Given the description of an element on the screen output the (x, y) to click on. 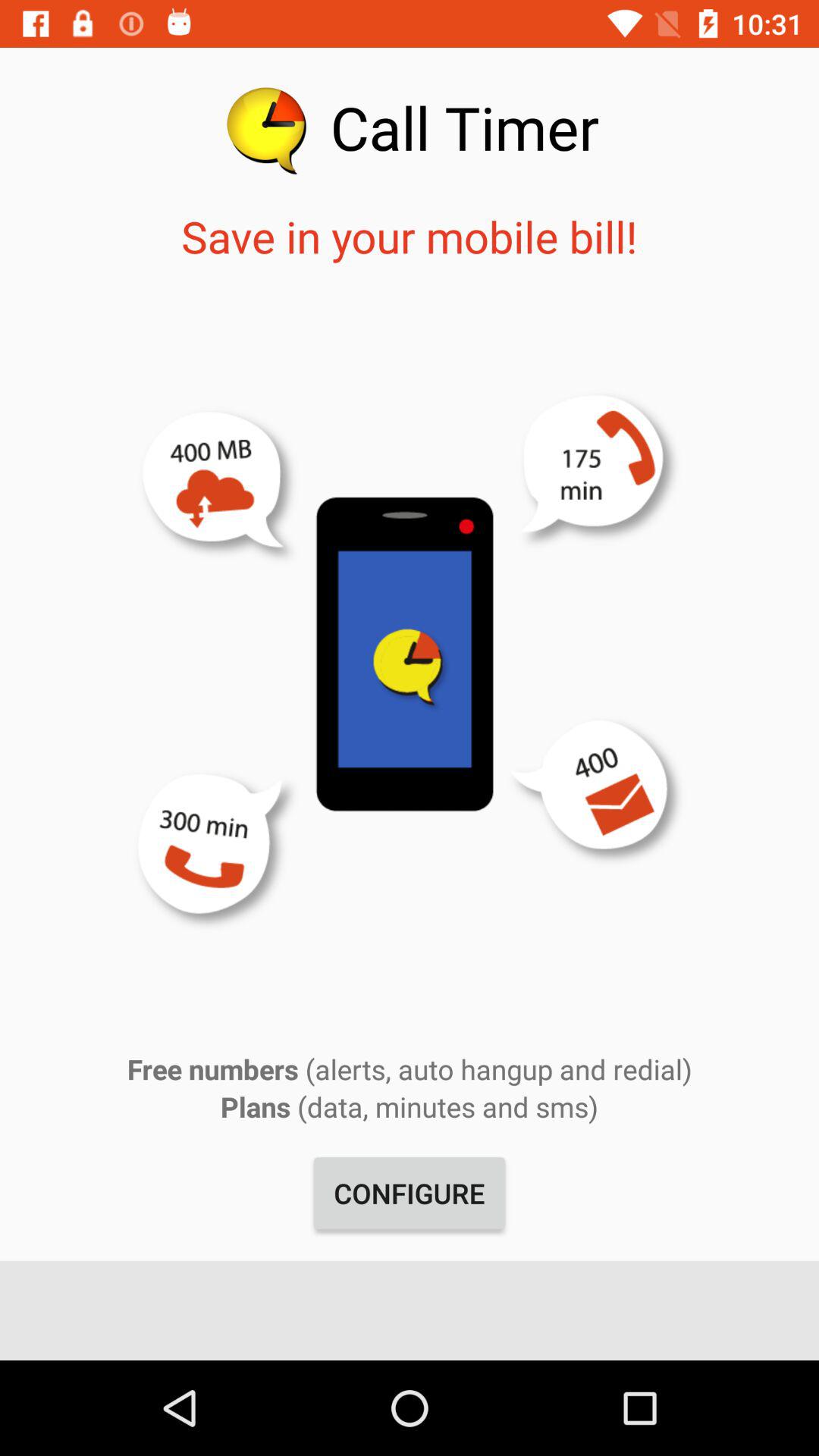
jump until the configure (409, 1193)
